Given the description of an element on the screen output the (x, y) to click on. 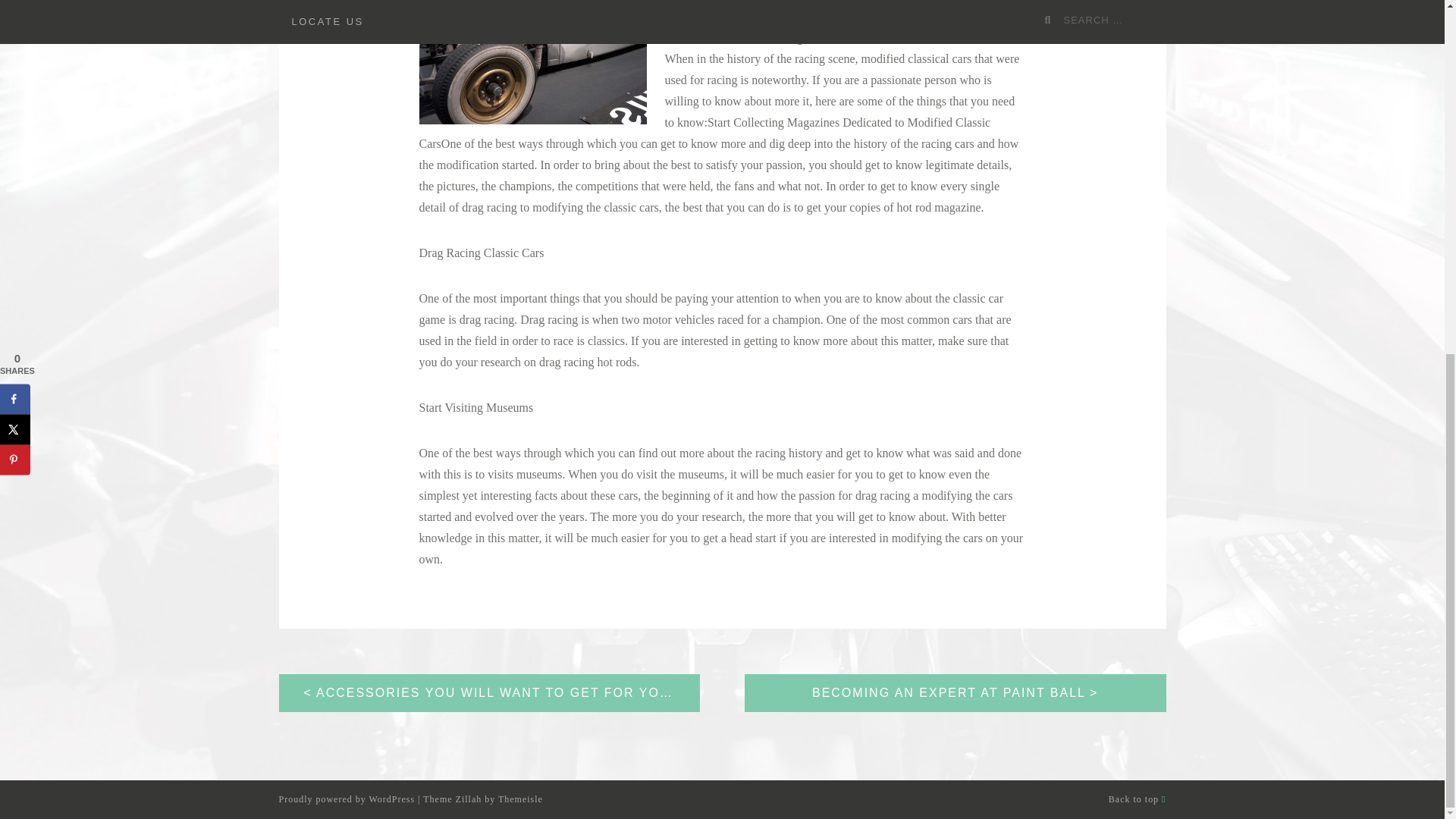
Back to top (1137, 798)
ACCESSORIES YOU WILL WANT TO GET FOR YOUR TABLET (489, 692)
BECOMING AN EXPERT AT PAINT BALL (955, 692)
